Given the description of an element on the screen output the (x, y) to click on. 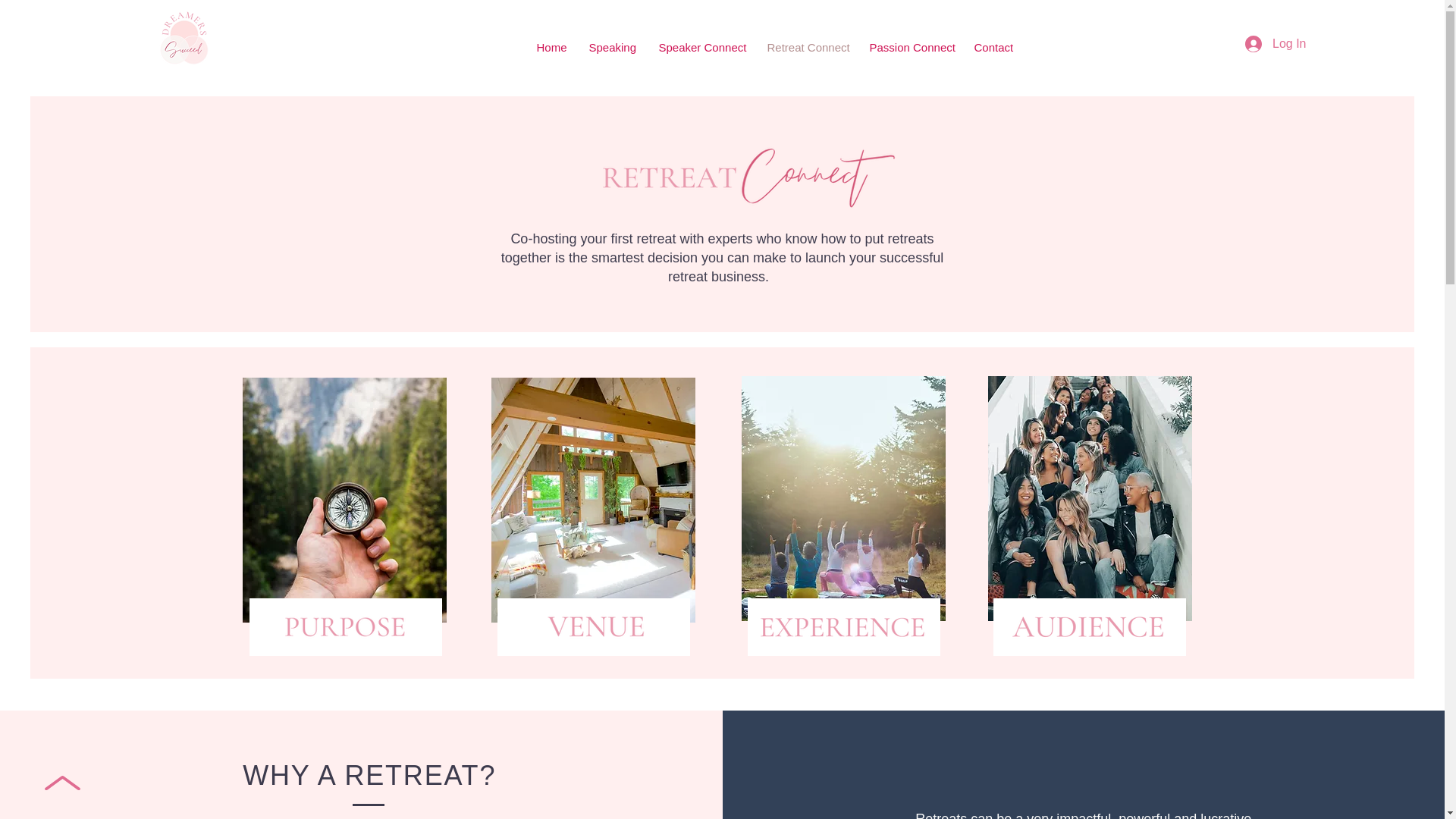
Speaking (612, 47)
Speaker Connect (701, 47)
Log In (1275, 43)
Passion Connect (910, 47)
Home (550, 47)
19.png (1089, 626)
18.png (842, 626)
Retreat Connect (806, 47)
Contact (993, 47)
